Given the description of an element on the screen output the (x, y) to click on. 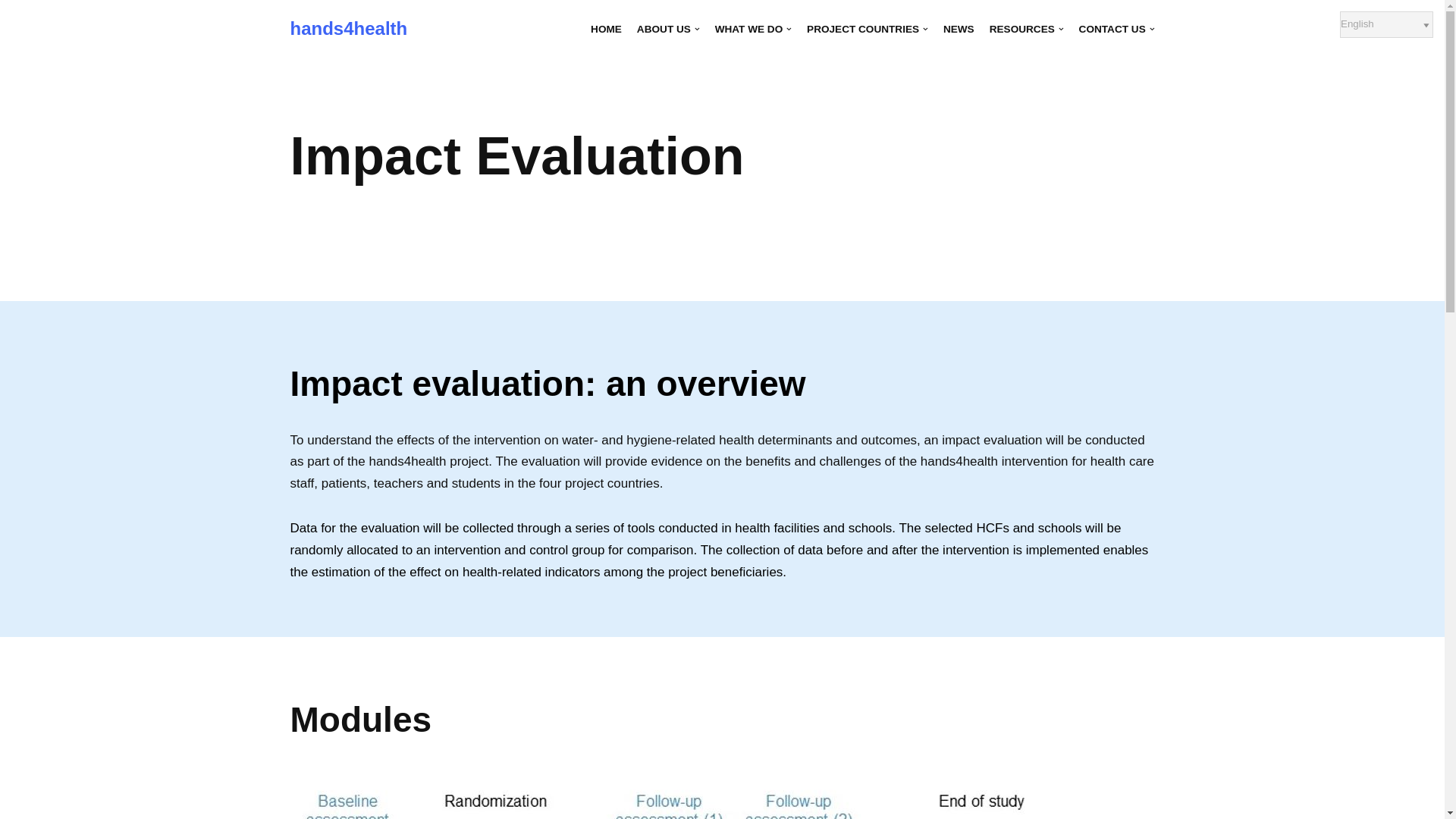
hands4health (348, 29)
RESOURCES (1027, 28)
hands4health (348, 29)
PROJECT COUNTRIES (867, 28)
CONTACT US (1116, 28)
WHAT WE DO (753, 28)
NEWS (958, 28)
Skip to content (11, 31)
HOME (606, 28)
ABOUT US (668, 28)
